Given the description of an element on the screen output the (x, y) to click on. 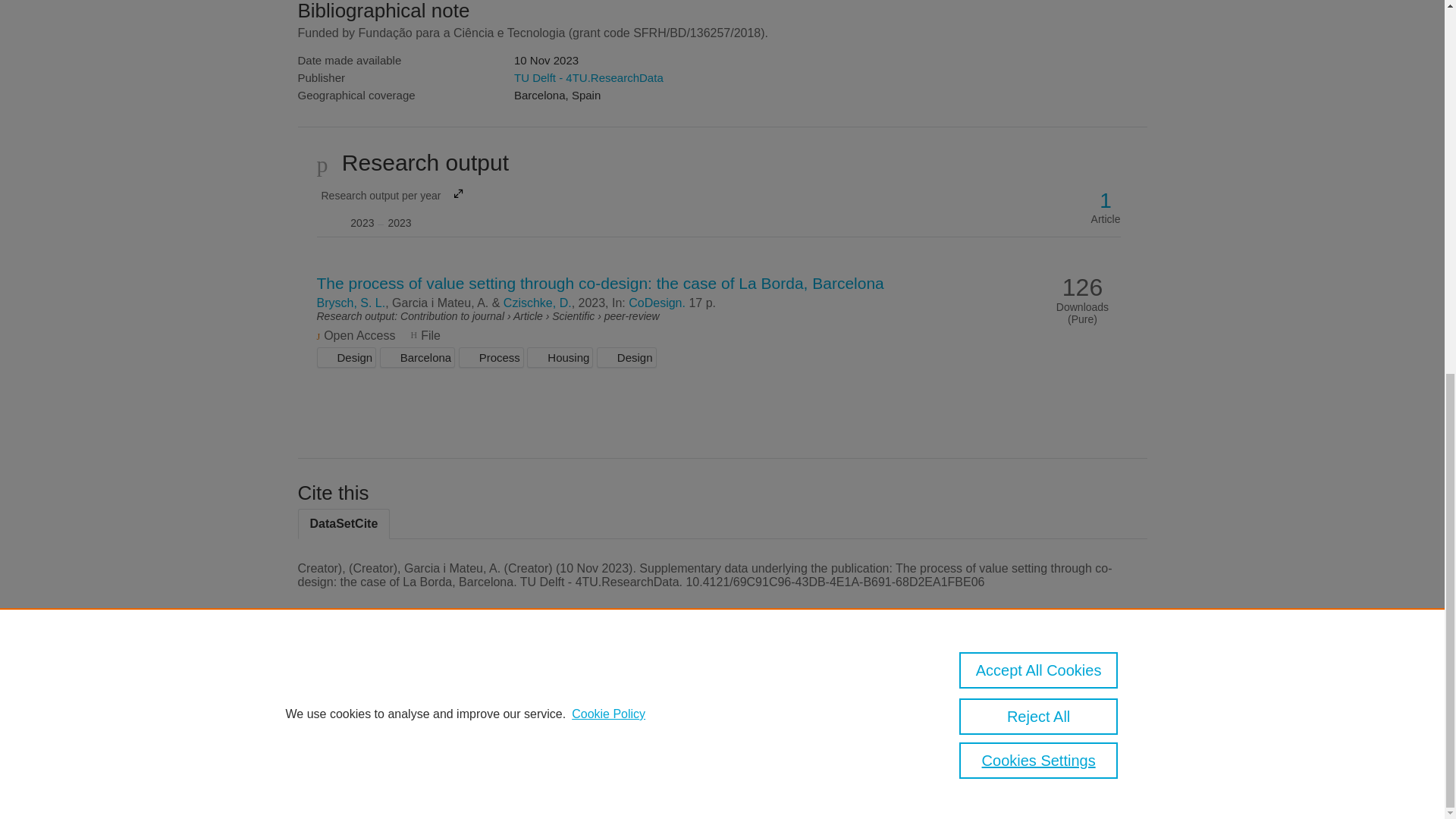
use of cookies (796, 740)
Scopus (394, 687)
1 (1105, 200)
Czischke, D. (537, 302)
CoDesign. (656, 302)
Pure (390, 207)
TU Delft - 4TU.ResearchData (362, 687)
Brysch, S. L. (588, 77)
